Given the description of an element on the screen output the (x, y) to click on. 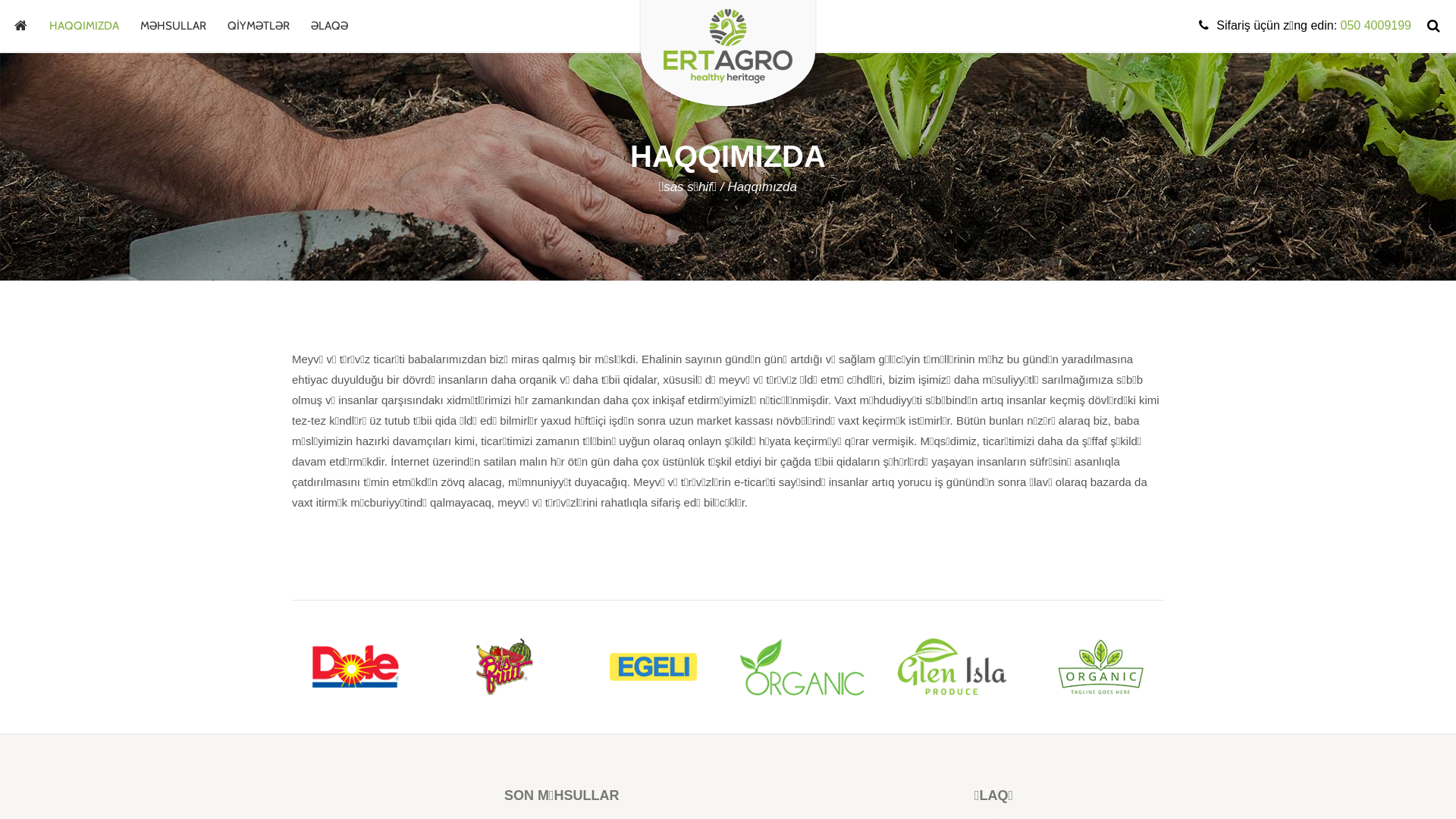
HAQQIMIZDA Element type: text (84, 25)
050 4009199 Element type: text (1375, 24)
